Given the description of an element on the screen output the (x, y) to click on. 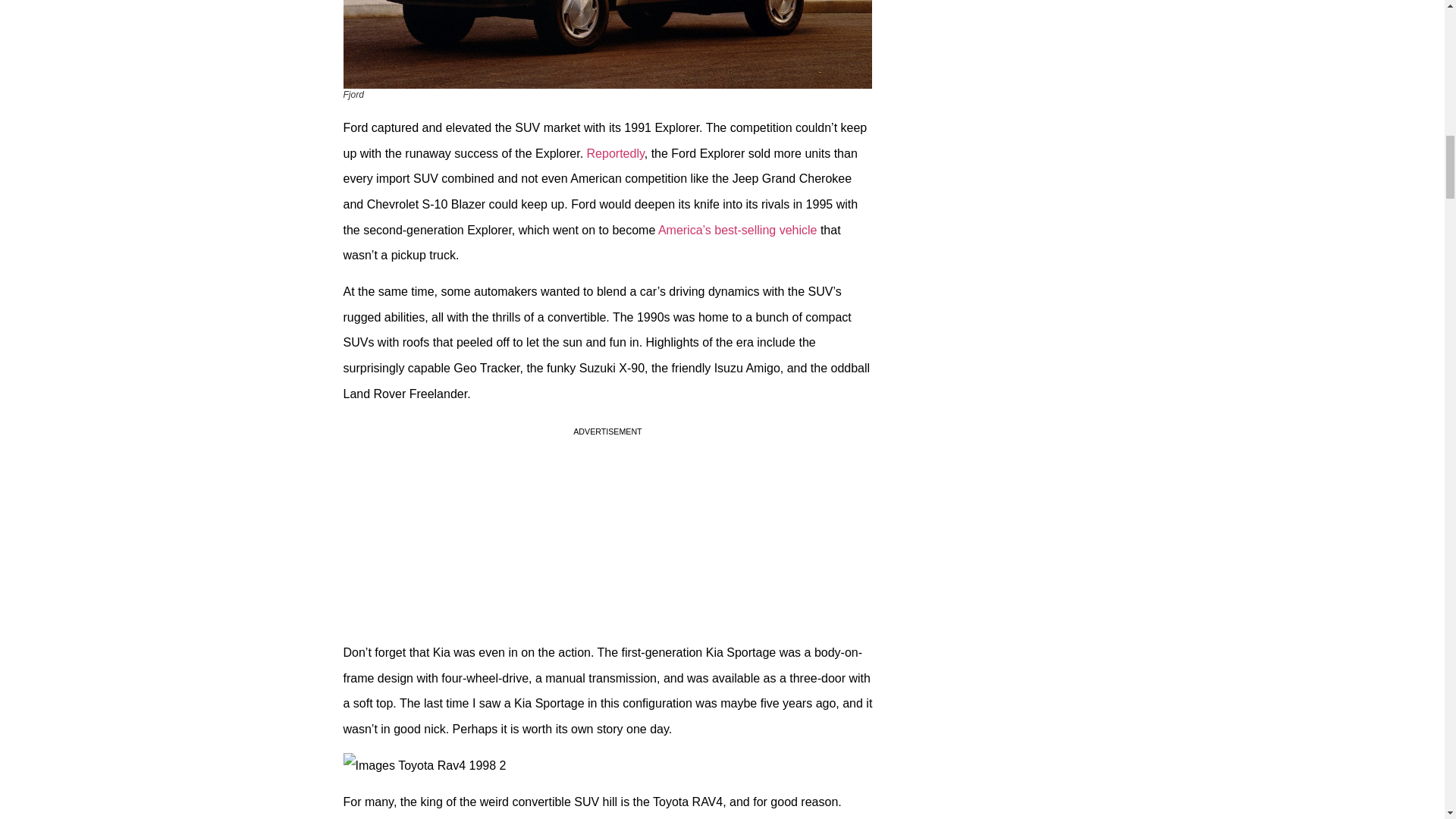
Reportedly (615, 153)
